Given the description of an element on the screen output the (x, y) to click on. 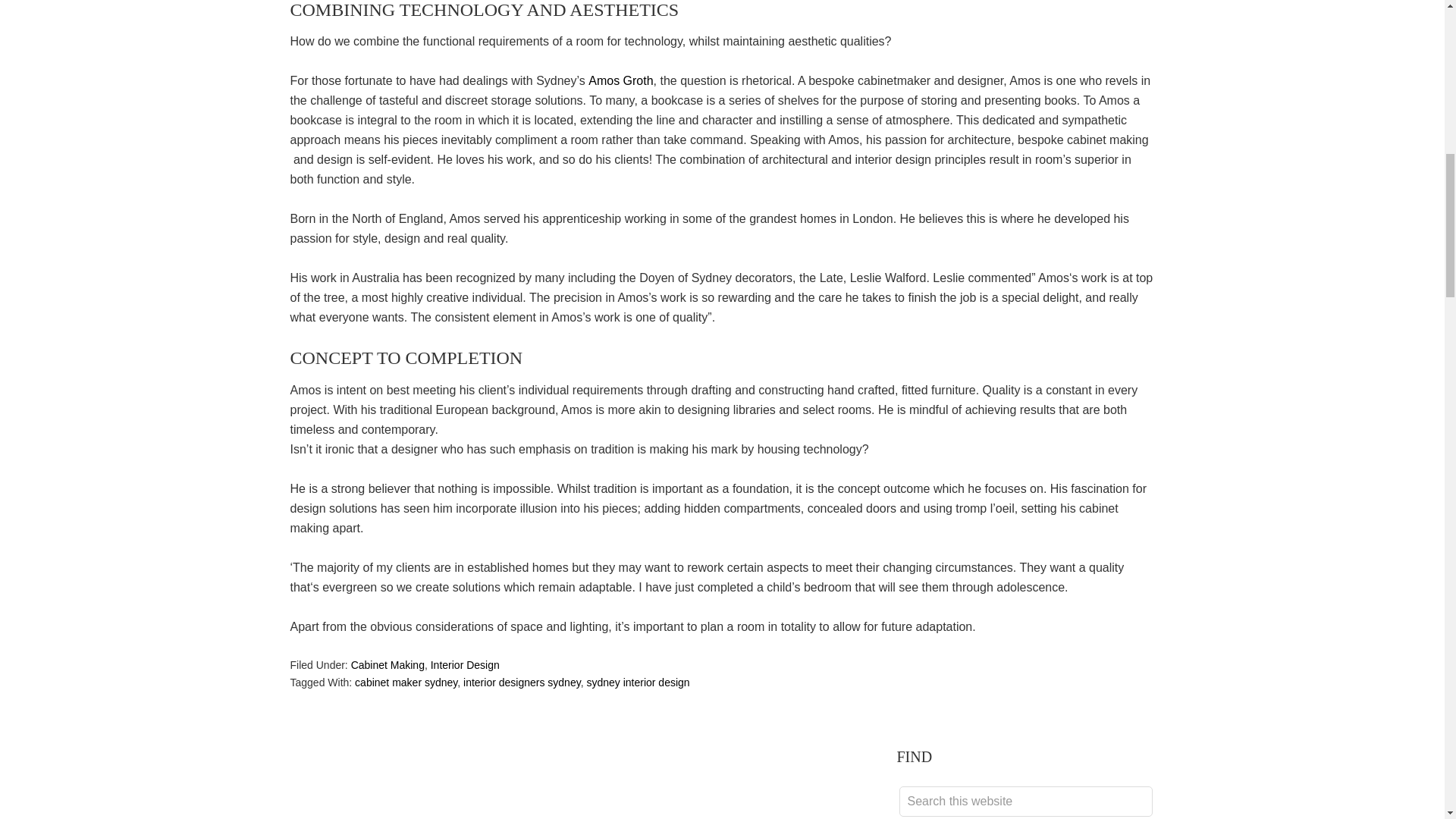
cabinet maker sydney (406, 682)
Interior Design (464, 664)
Amos Groth (620, 80)
Cabinet Making (387, 664)
sydney interior design (637, 682)
interior designers sydney (521, 682)
